Given the description of an element on the screen output the (x, y) to click on. 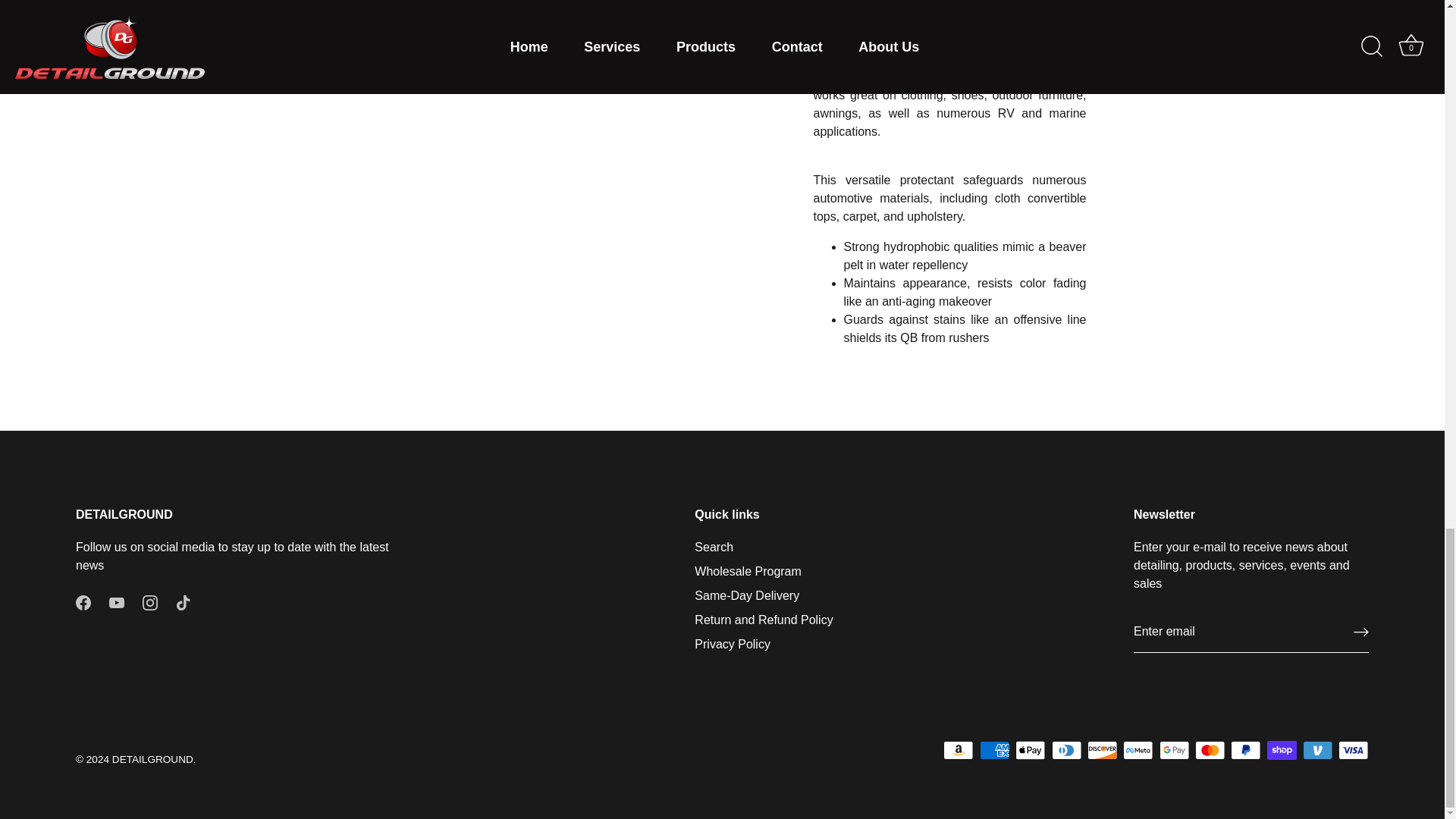
Apple Pay (1029, 750)
Venmo (1317, 750)
Amazon (958, 750)
PayPal (1245, 750)
Youtube (116, 602)
Discover (1101, 750)
Instagram (149, 602)
Right arrow long (1361, 631)
American Express (994, 750)
Mastercard (1209, 750)
